Given the description of an element on the screen output the (x, y) to click on. 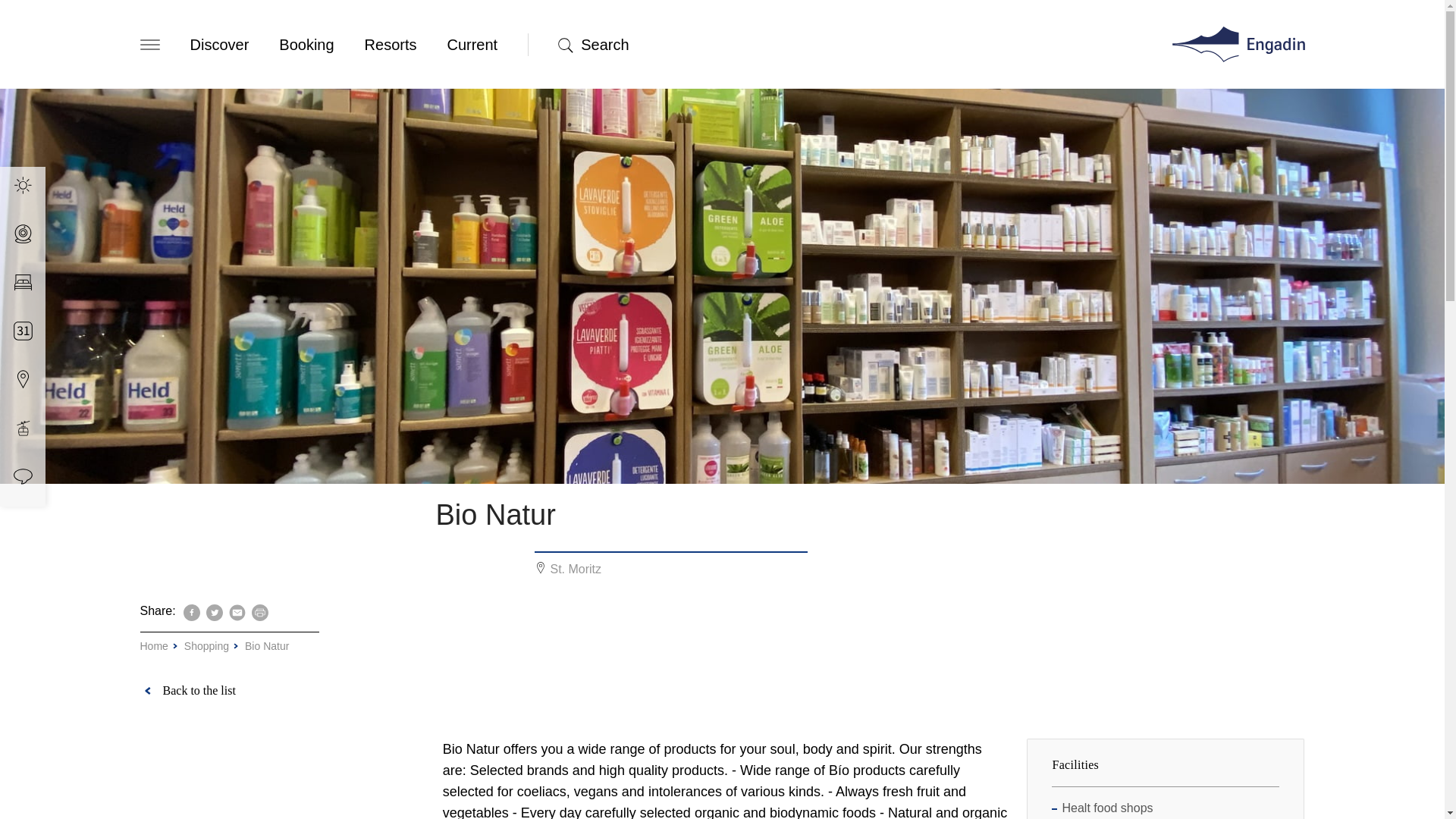
Discover (218, 44)
Current (471, 44)
Engadin - Ein Tal zum verlieben (1238, 44)
Resorts (390, 44)
Search (604, 44)
Booking (306, 44)
